Given the description of an element on the screen output the (x, y) to click on. 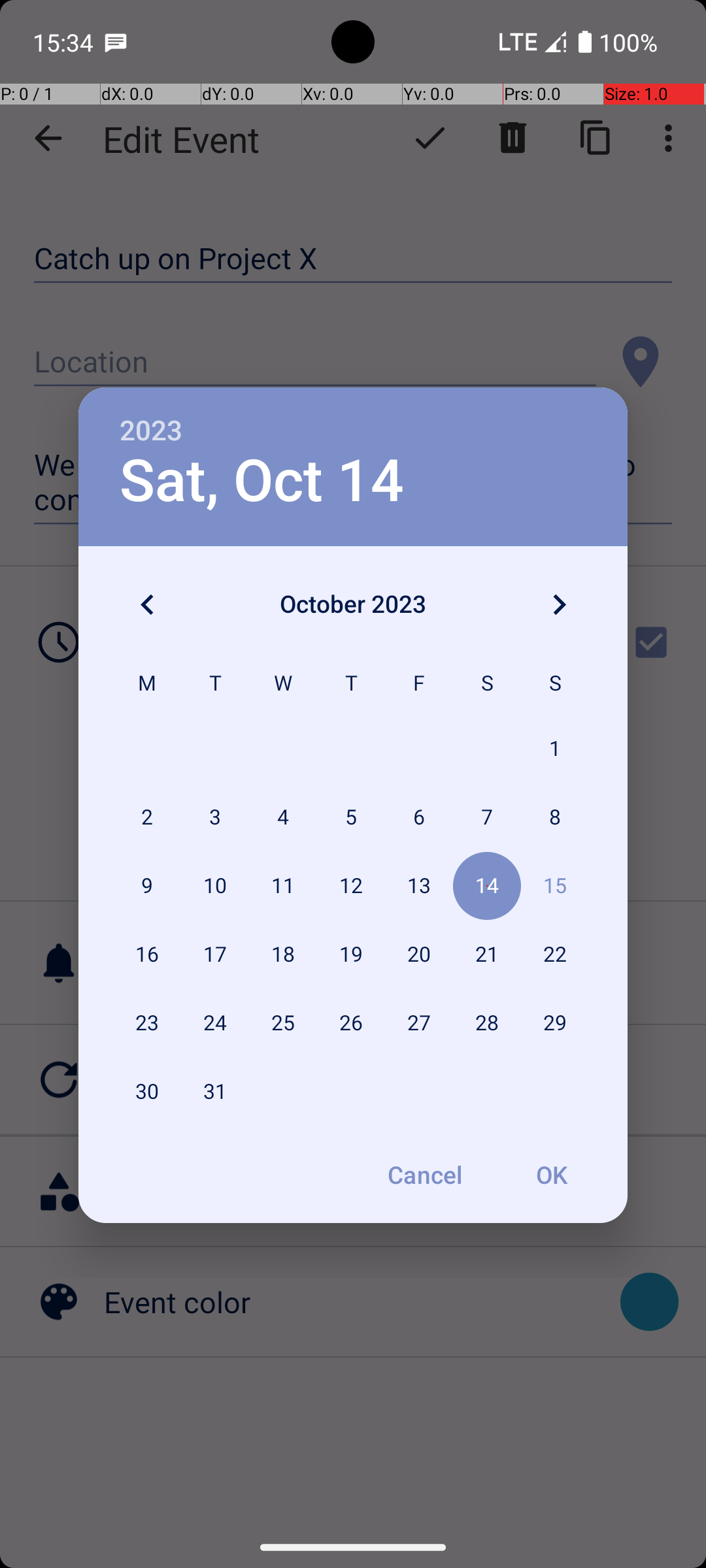
Sat, Oct 14 Element type: android.widget.TextView (261, 480)
